Given the description of an element on the screen output the (x, y) to click on. 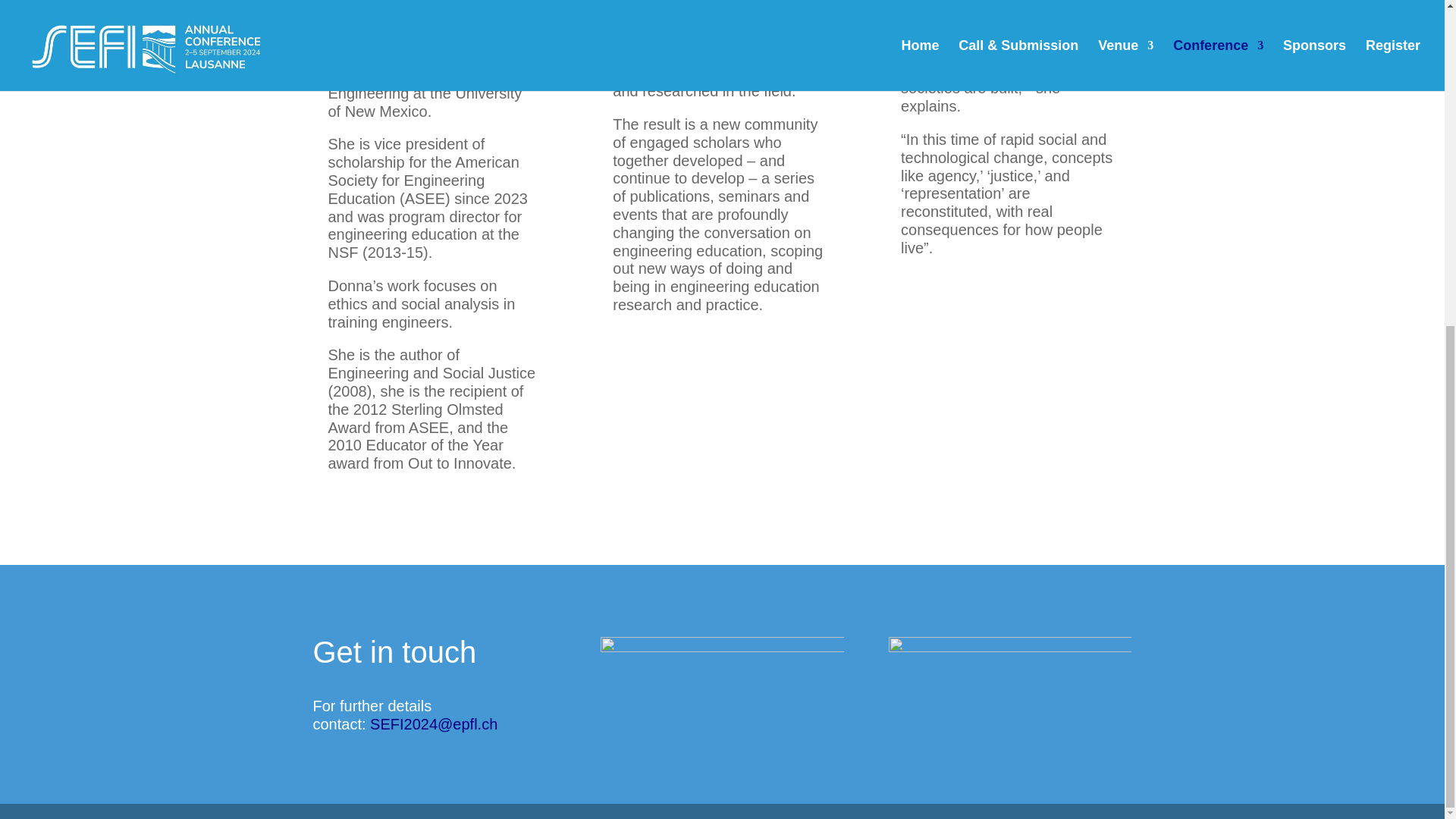
Logo-SEFI-white (721, 649)
